Given the description of an element on the screen output the (x, y) to click on. 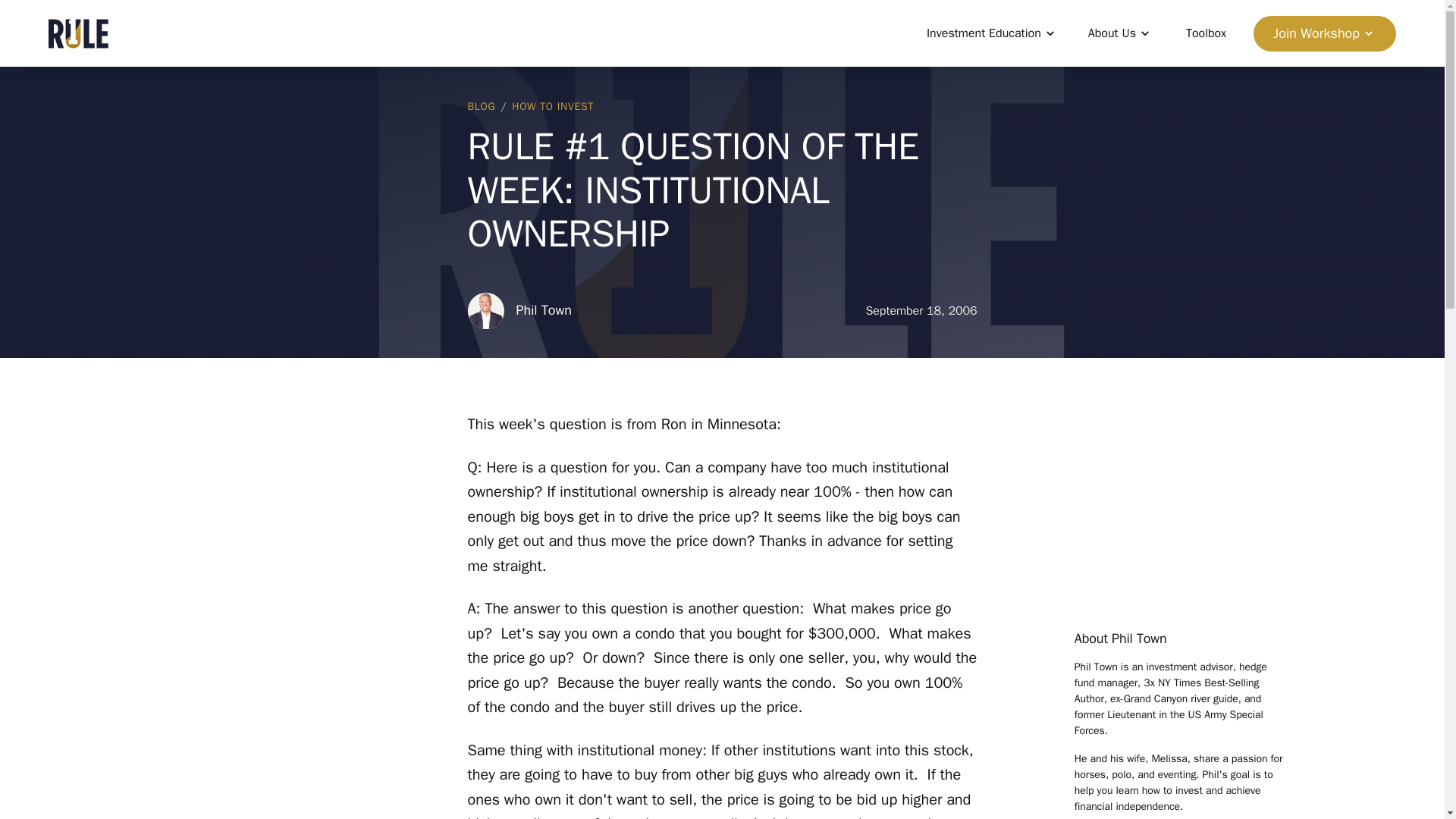
Investment Education (992, 33)
Join Workshop (1324, 32)
BLOG (481, 106)
Toolbox (1205, 33)
About Us (1119, 33)
HOW TO INVEST (553, 106)
